Given the description of an element on the screen output the (x, y) to click on. 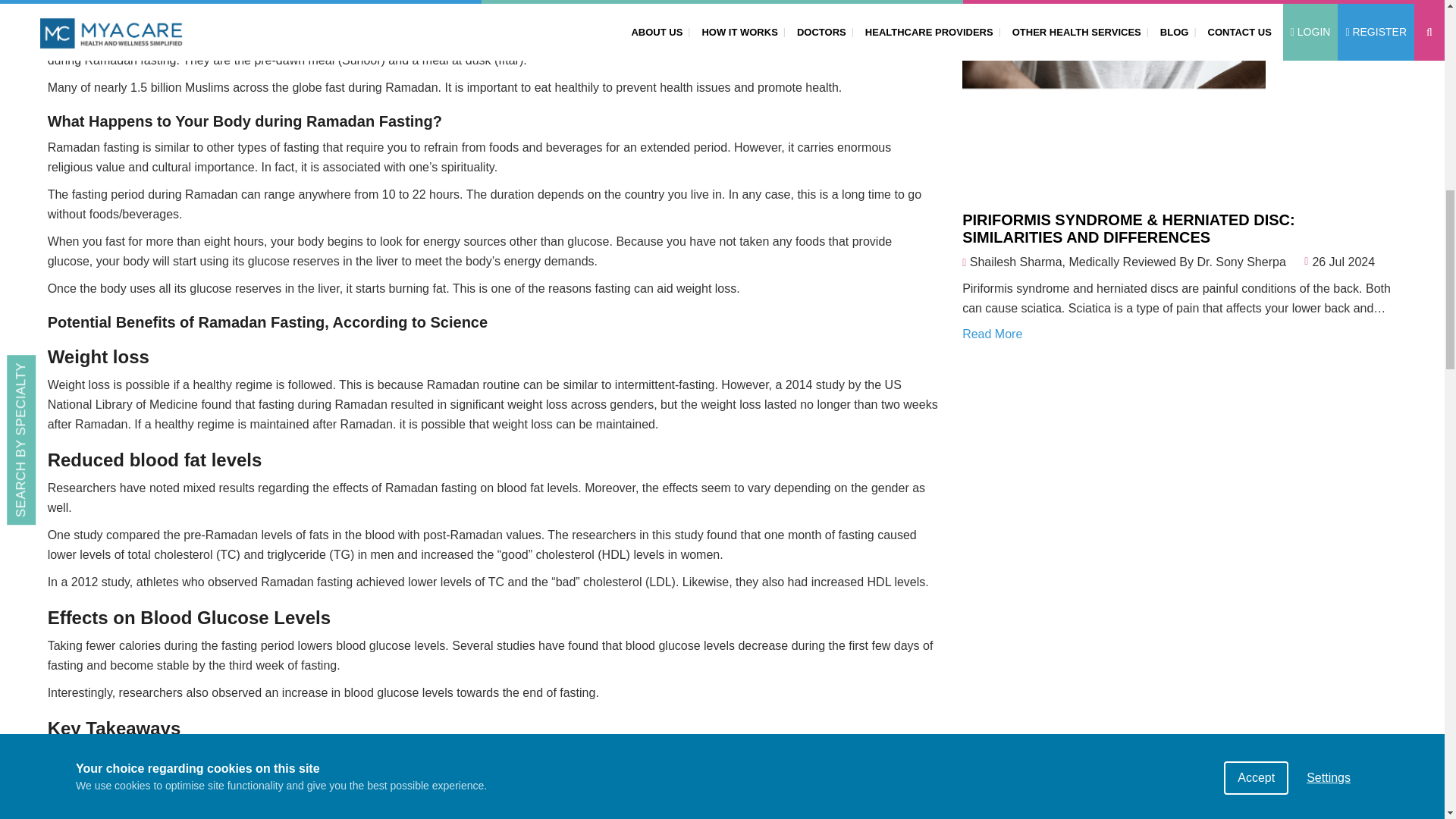
Accept (1256, 37)
Settings (1328, 24)
Shailesh Sharma, Medically Reviewed By Dr. Sony Sherpa (1127, 261)
Read More (992, 333)
